Given the description of an element on the screen output the (x, y) to click on. 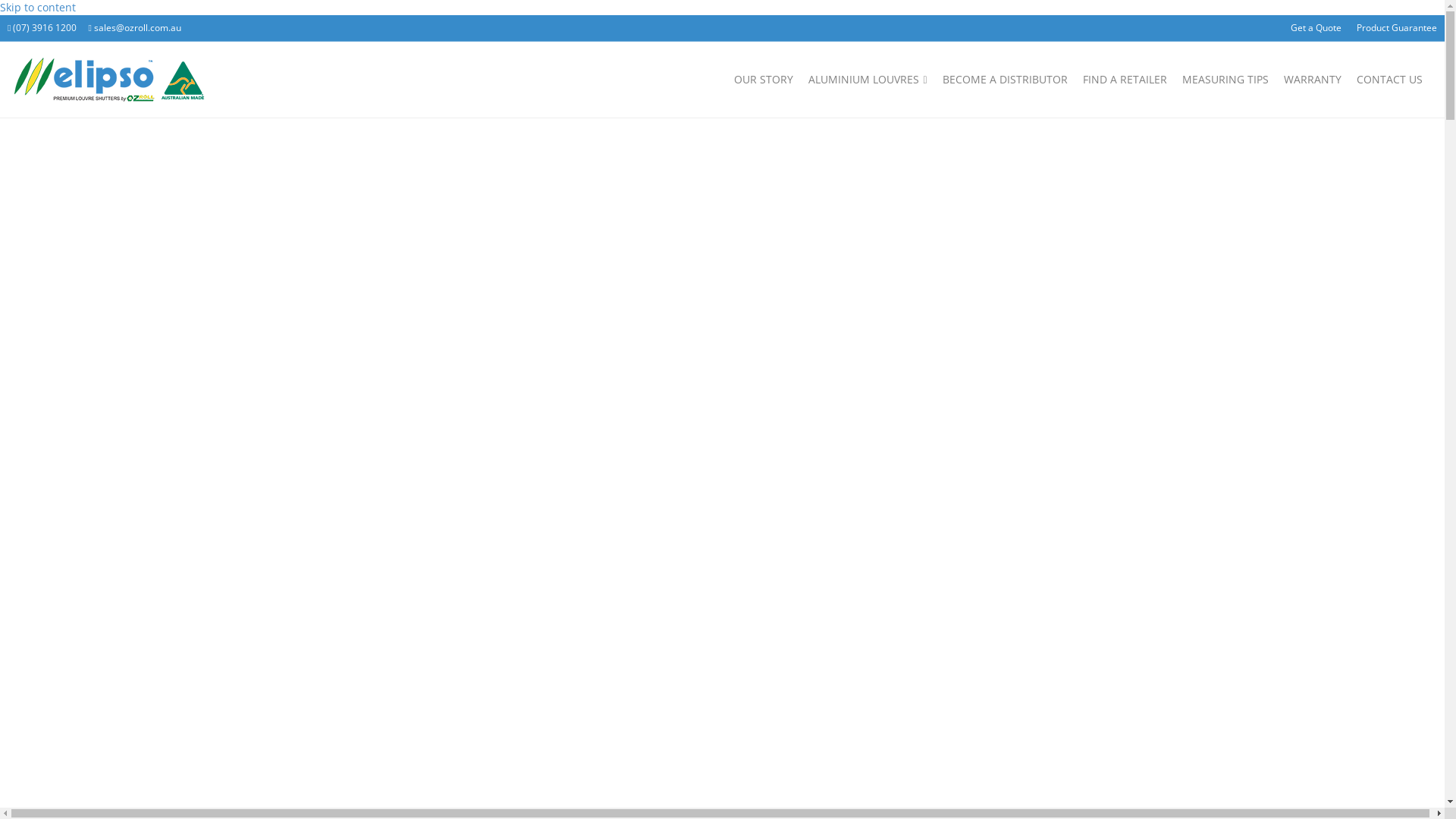
(07) 3916 1200 Element type: text (41, 27)
OUR STORY Element type: text (763, 79)
FIND A RETAILER Element type: text (1124, 79)
sales@ozroll.com.au Element type: text (137, 27)
ALUMINIUM LOUVRES Element type: text (867, 79)
Get a Quote Element type: text (1316, 27)
BECOME A DISTRIBUTOR Element type: text (1005, 79)
Product Guarantee Element type: text (1396, 27)
MEASURING TIPS Element type: text (1225, 79)
Skip to content Element type: text (37, 7)
CONTACT US Element type: text (1389, 79)
WARRANTY Element type: text (1312, 79)
